Given the description of an element on the screen output the (x, y) to click on. 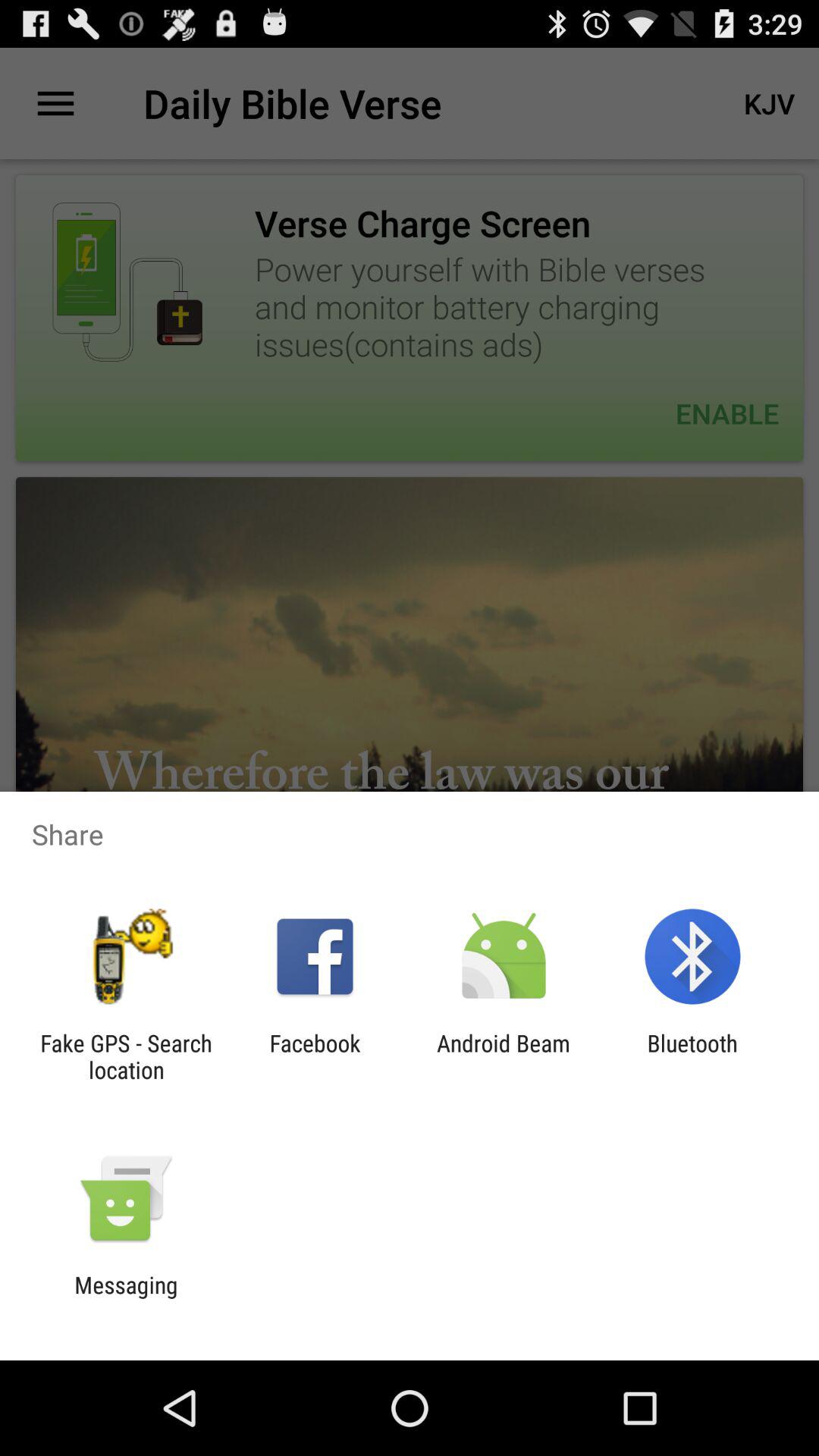
choose item to the right of fake gps search item (314, 1056)
